Given the description of an element on the screen output the (x, y) to click on. 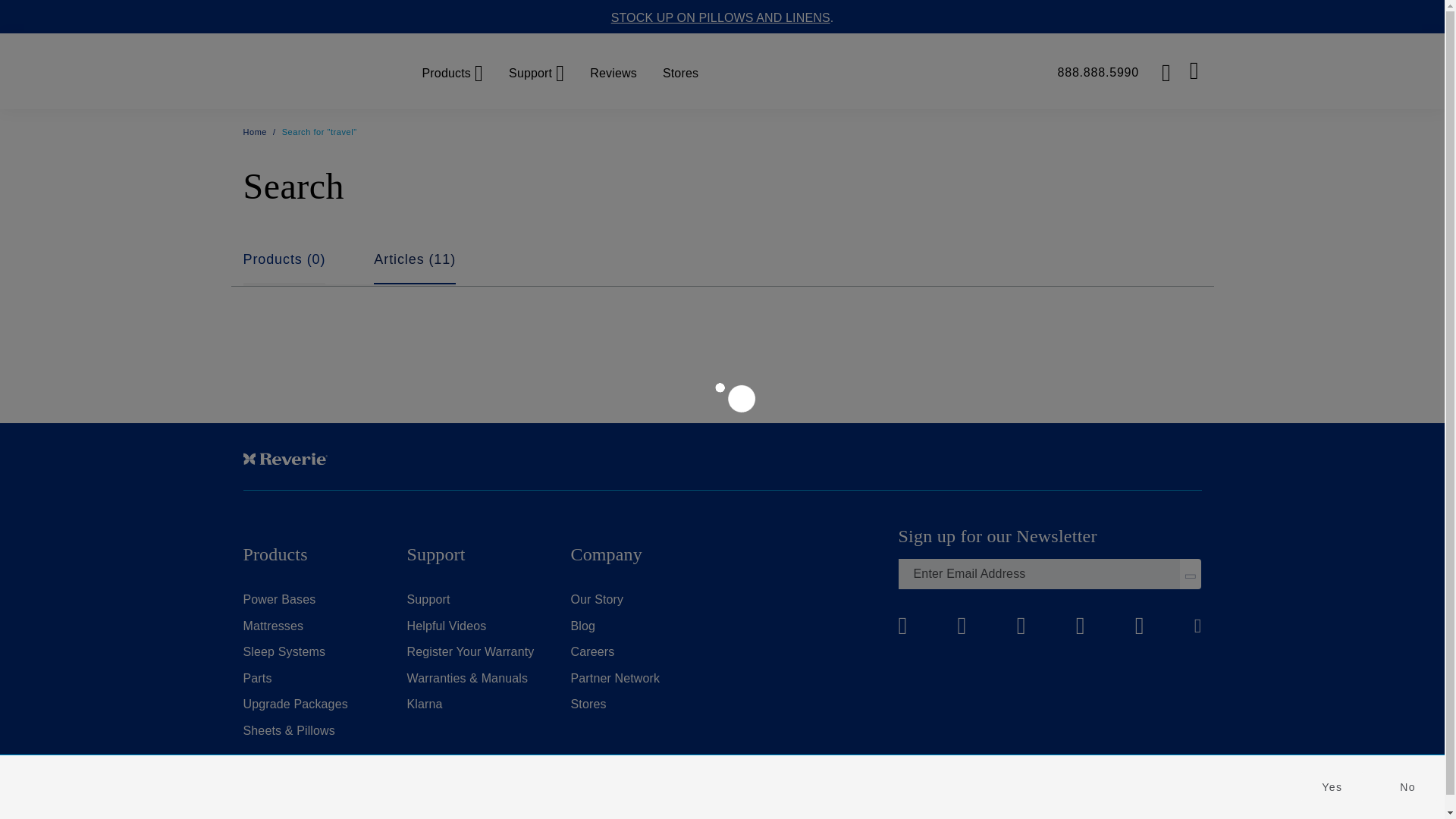
Go to Sleep Systems (283, 651)
Go to Blog (582, 625)
Go to Mattresses (272, 625)
Go to Careers (592, 651)
Go to Helpful Videos (446, 625)
Go to Parts (256, 677)
Stock up on Pillows and Linens (722, 17)
Go to Stores (587, 703)
STOCK UP ON PILLOWS AND LINENS. (722, 17)
Support (535, 70)
Reverie - US (314, 70)
Go to Upgrade Packages  (295, 703)
Go to Partner Network (614, 677)
Go to Our Story (596, 599)
Go to Klarna (424, 703)
